Given the description of an element on the screen output the (x, y) to click on. 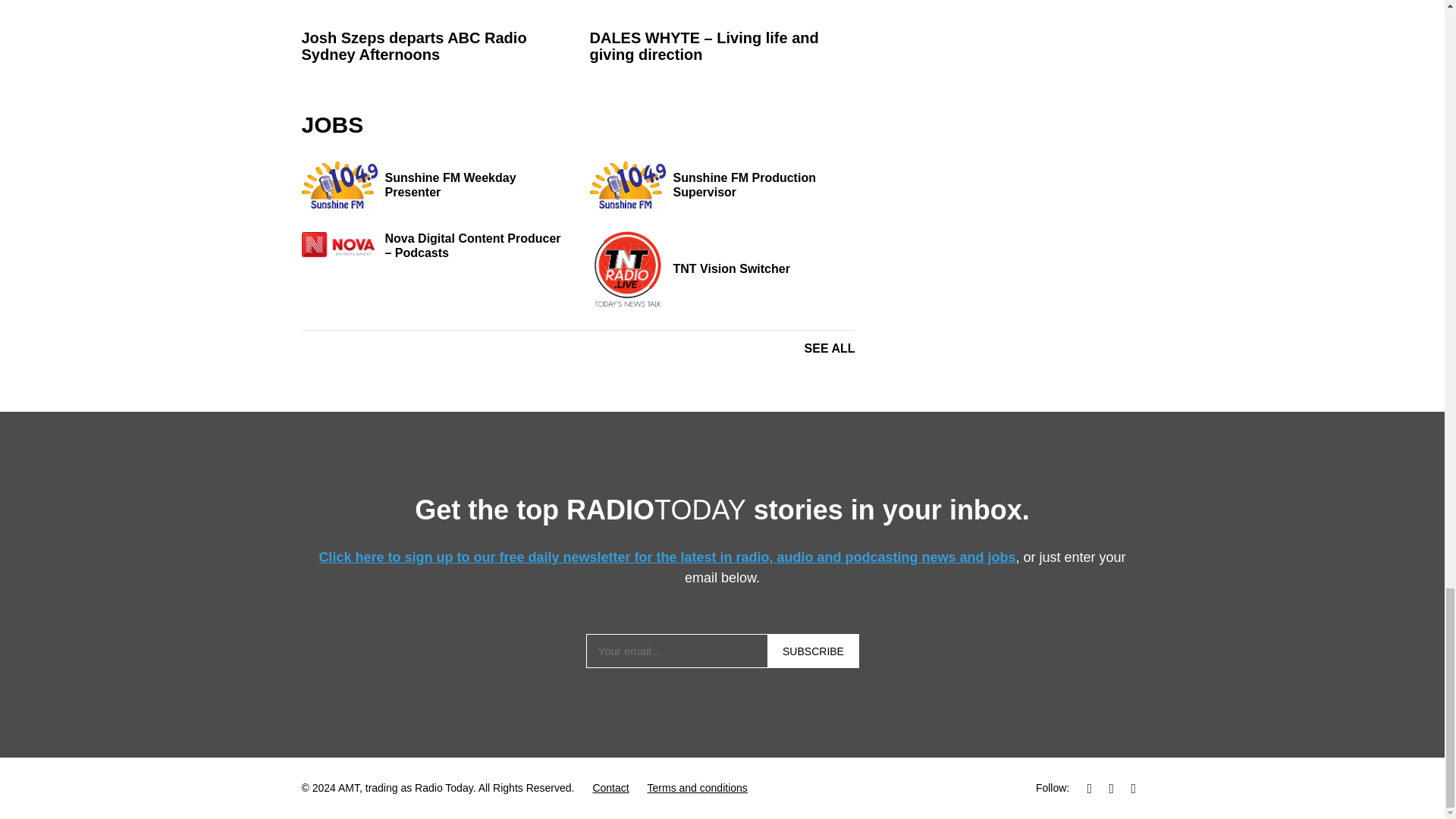
Subscribe (813, 650)
